Given the description of an element on the screen output the (x, y) to click on. 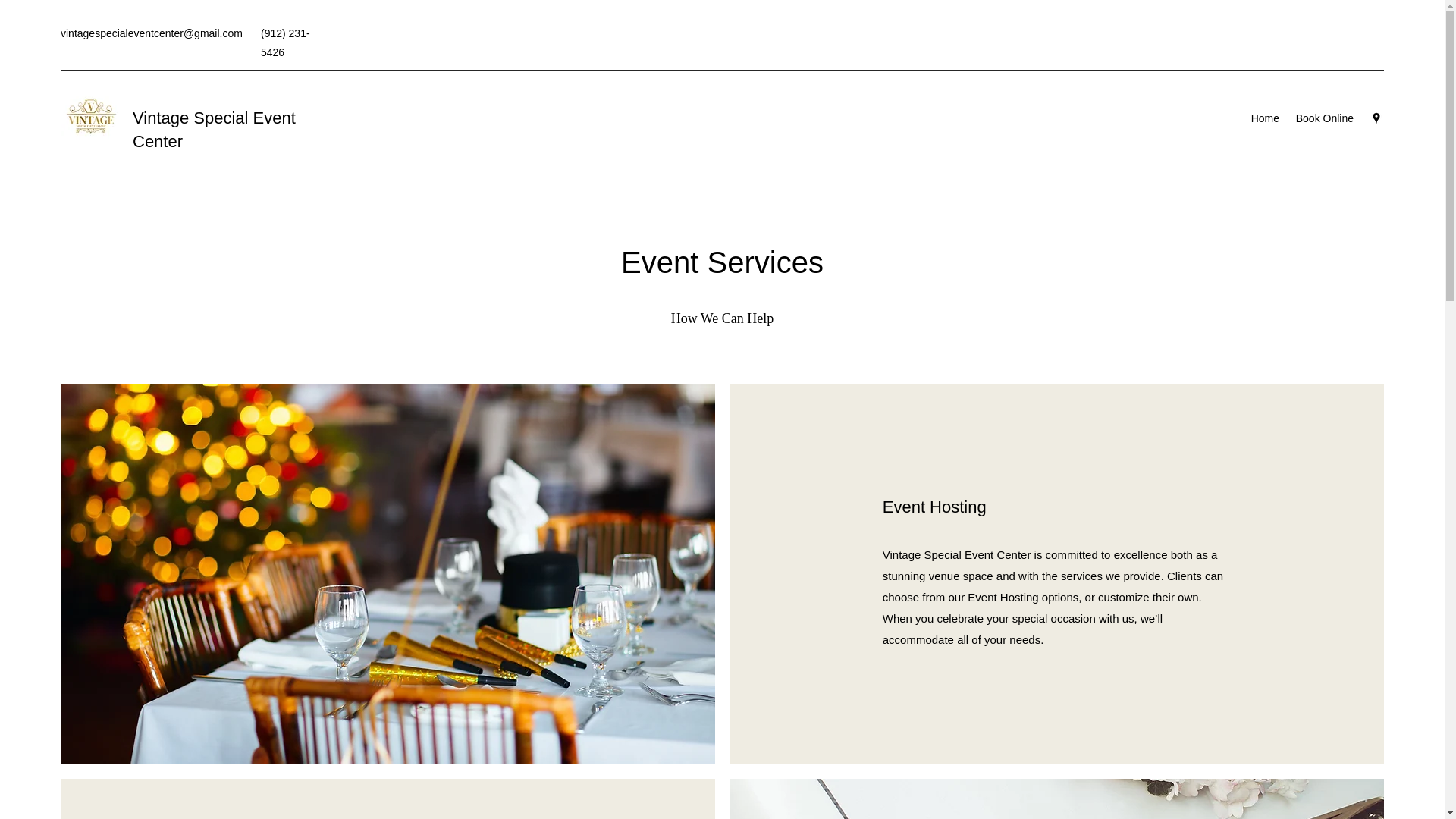
Book Online (1324, 118)
Vintage Special Event Center (213, 129)
Home (1265, 118)
